Given the description of an element on the screen output the (x, y) to click on. 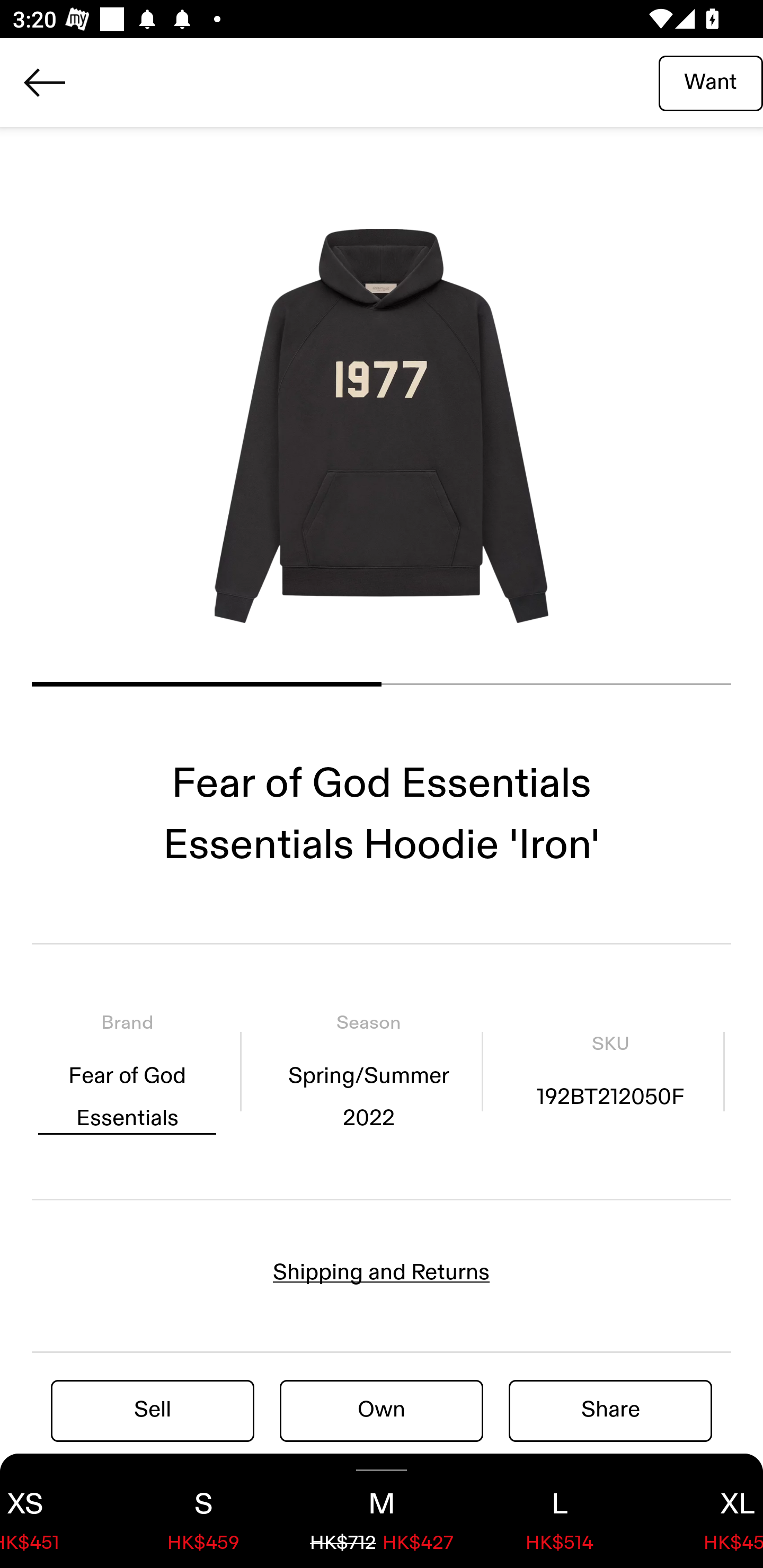
Want (710, 82)
Brand Fear of God Essentials (126, 1070)
Season Spring/Summer 2022 (368, 1070)
SKU 192BT212050F (609, 1070)
Shipping and Returns (381, 1272)
Sell (152, 1410)
Own (381, 1410)
Share (609, 1410)
XS HK$451 (57, 1510)
S HK$459 (203, 1510)
M HK$712 HK$427 (381, 1510)
L HK$514 (559, 1510)
XL HK$451 (705, 1510)
